Given the description of an element on the screen output the (x, y) to click on. 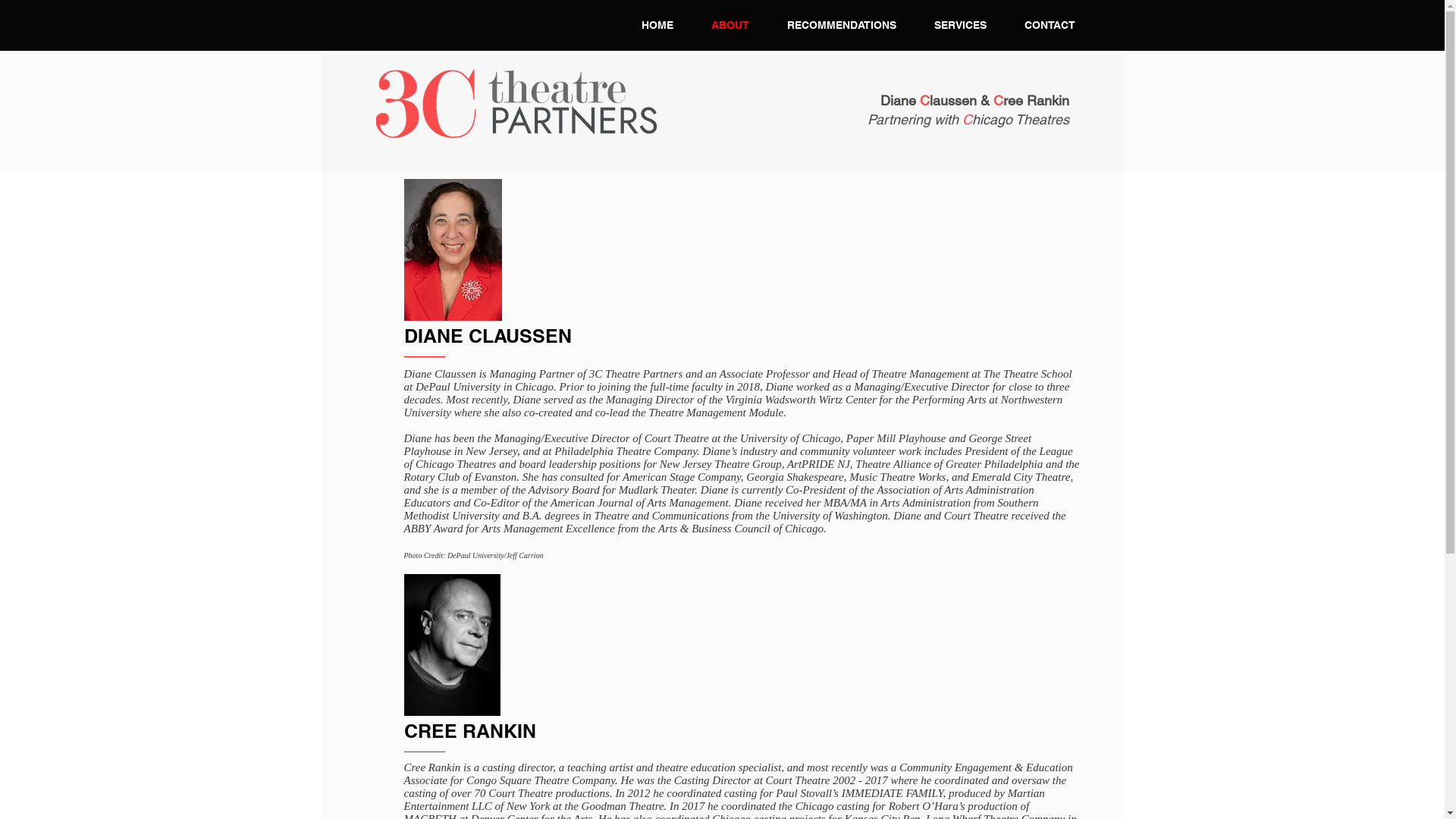
SERVICES Element type: text (959, 24)
CONTACT Element type: text (1049, 24)
ABOUT Element type: text (729, 24)
RECOMMENDATIONS Element type: text (840, 24)
HOME Element type: text (656, 24)
